Given the description of an element on the screen output the (x, y) to click on. 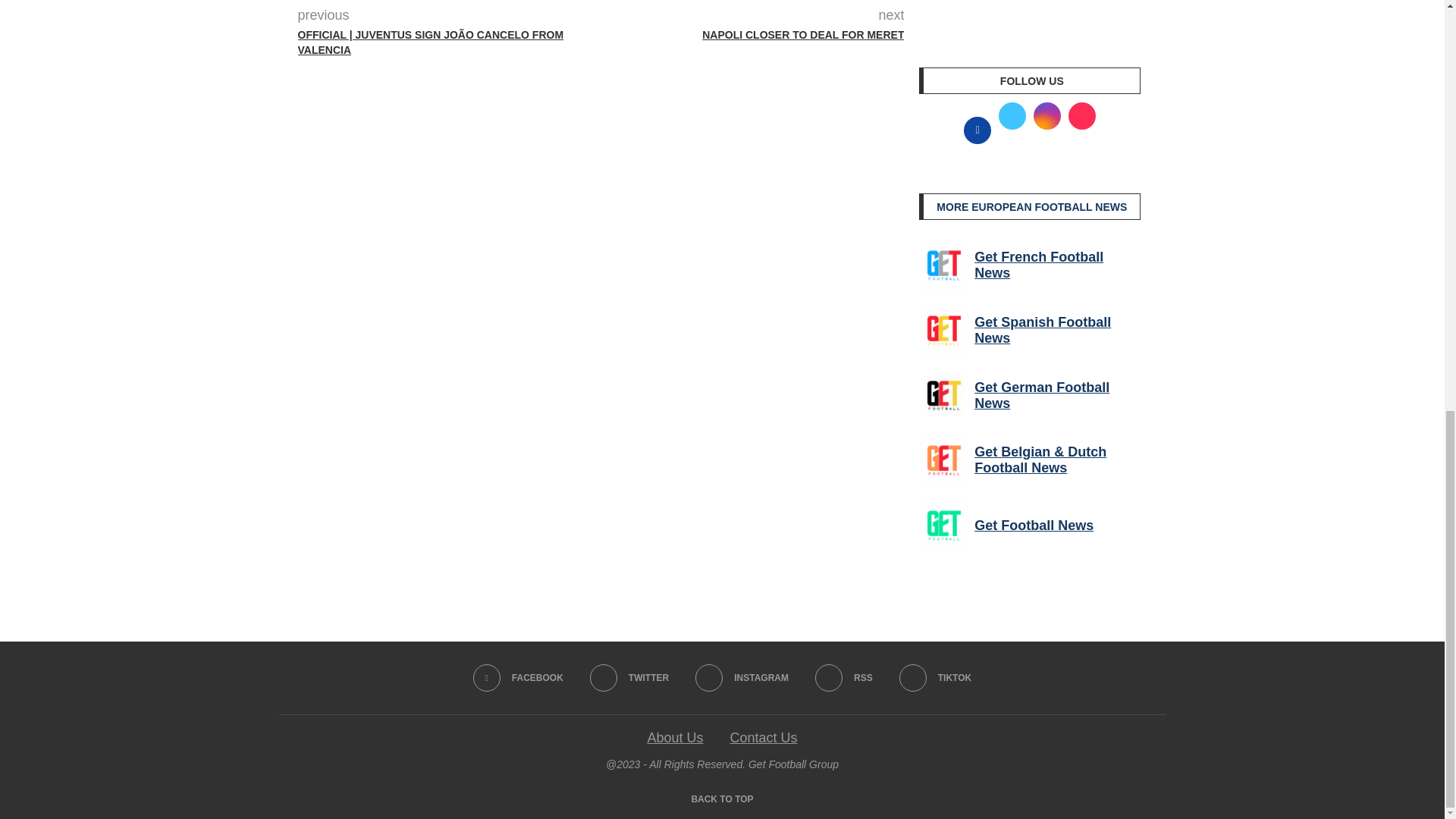
Get German Football News (943, 395)
Get Spanish Football News (943, 330)
Get Football News (943, 525)
Get French Football News (943, 265)
